Given the description of an element on the screen output the (x, y) to click on. 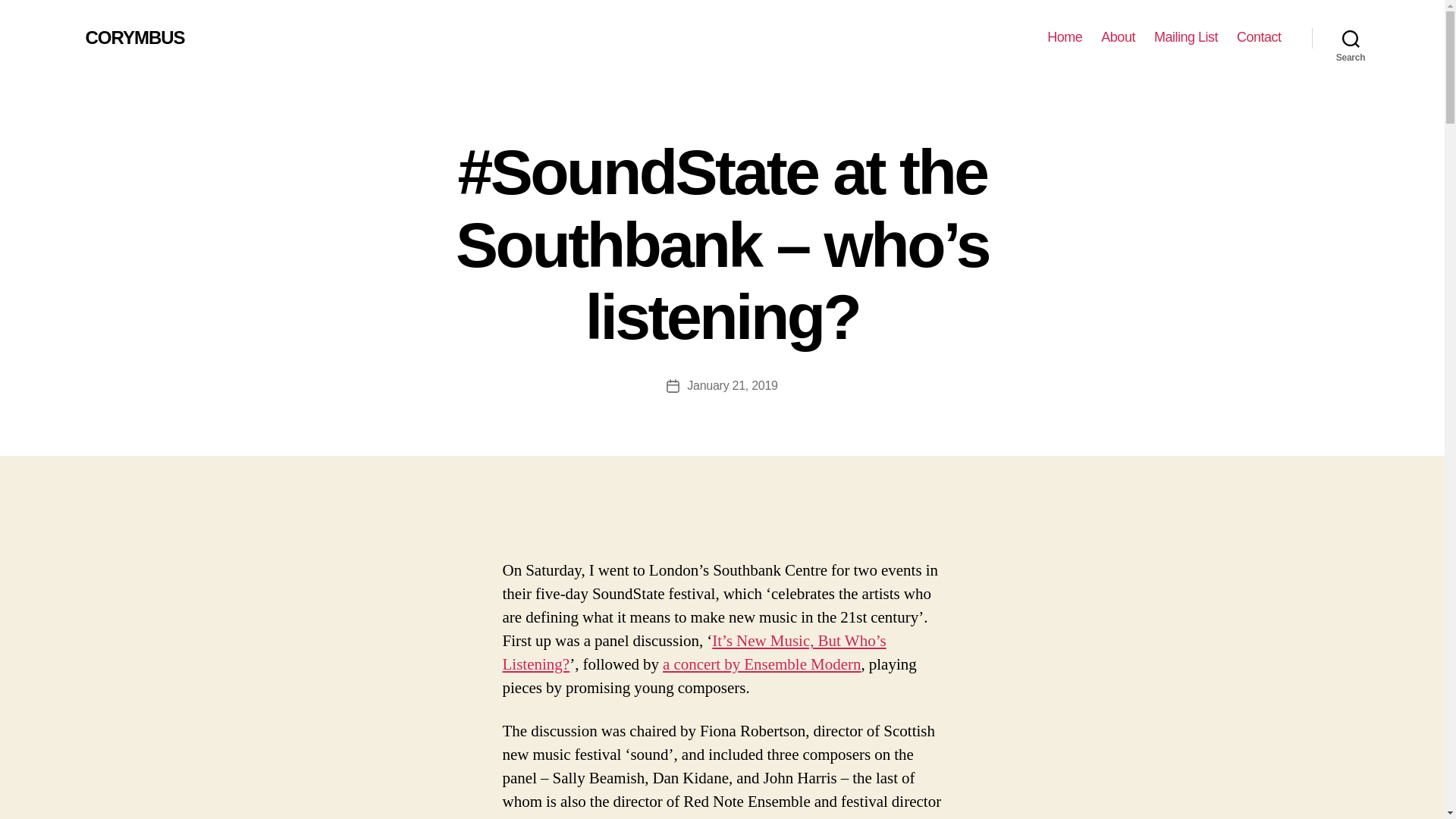
Home (1063, 37)
Contact (1258, 37)
Search (1350, 37)
Mailing List (1185, 37)
January 21, 2019 (732, 385)
CORYMBUS (134, 37)
About (1117, 37)
a concert by Ensemble Modern (761, 664)
